Given the description of an element on the screen output the (x, y) to click on. 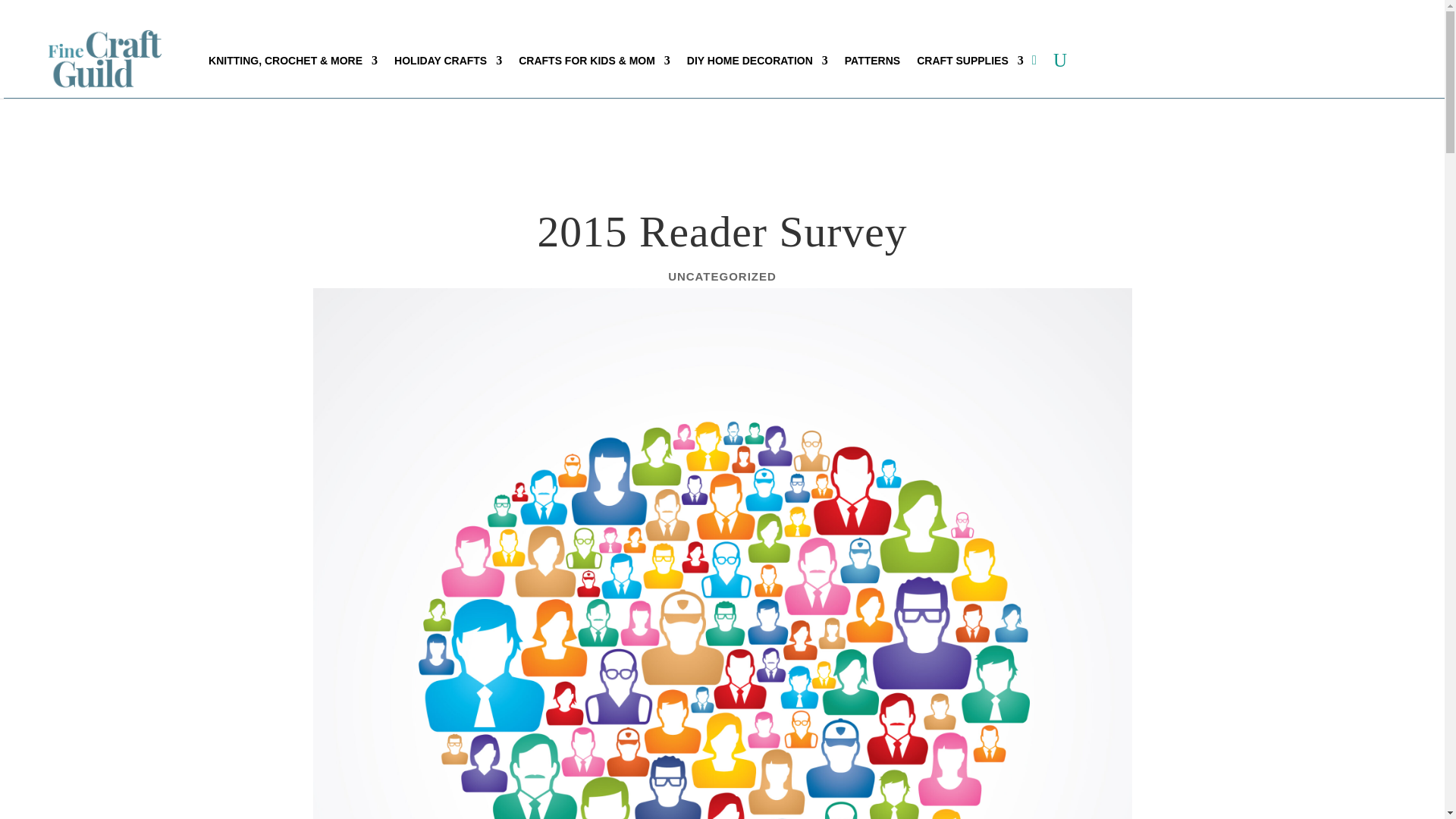
Advertisement (757, 137)
DIY HOME DECORATION (757, 60)
CRAFT SUPPLIES (970, 60)
UNCATEGORIZED (722, 276)
HOLIDAY CRAFTS (448, 60)
